Given the description of an element on the screen output the (x, y) to click on. 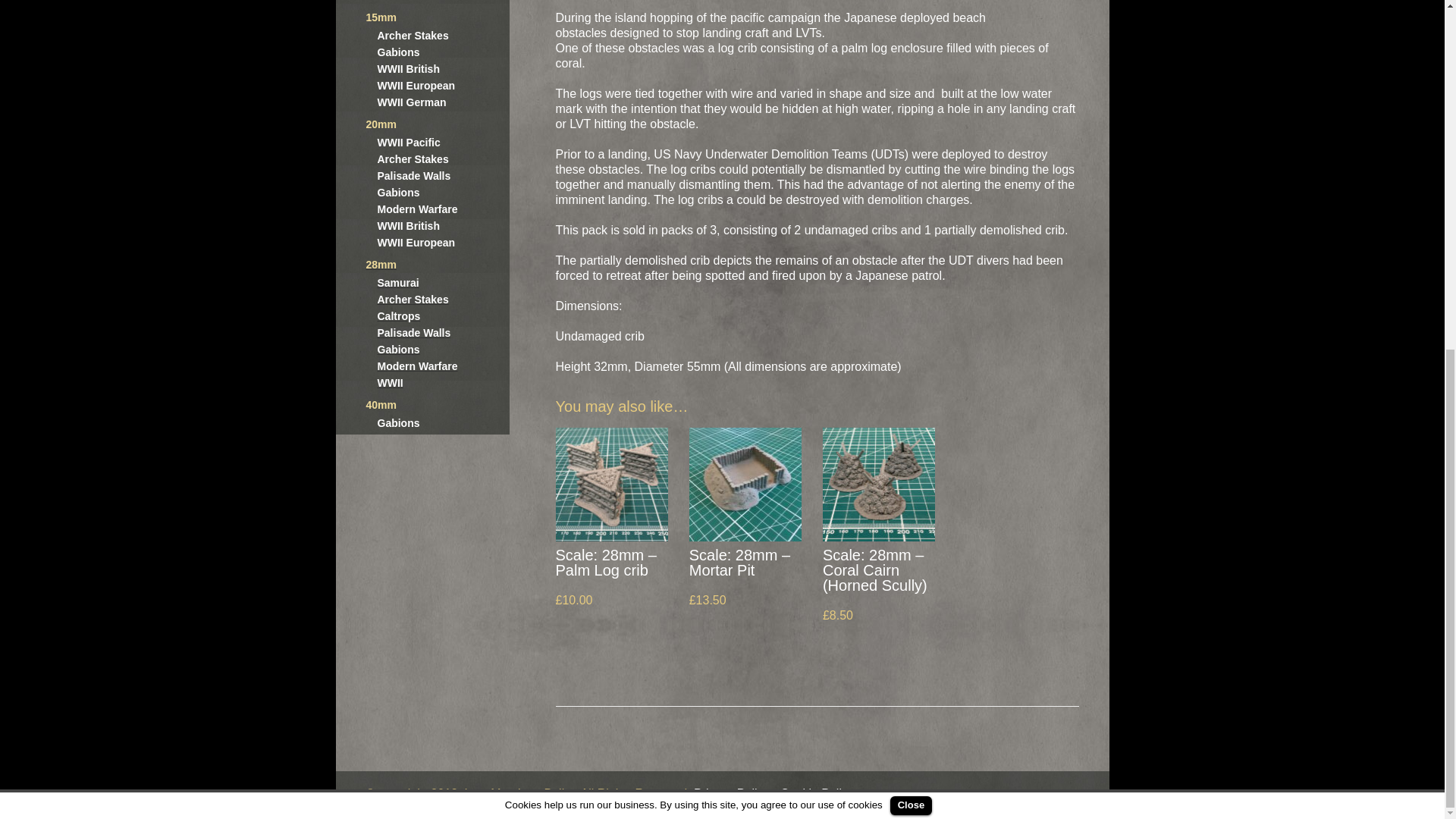
Close (910, 199)
